Given the description of an element on the screen output the (x, y) to click on. 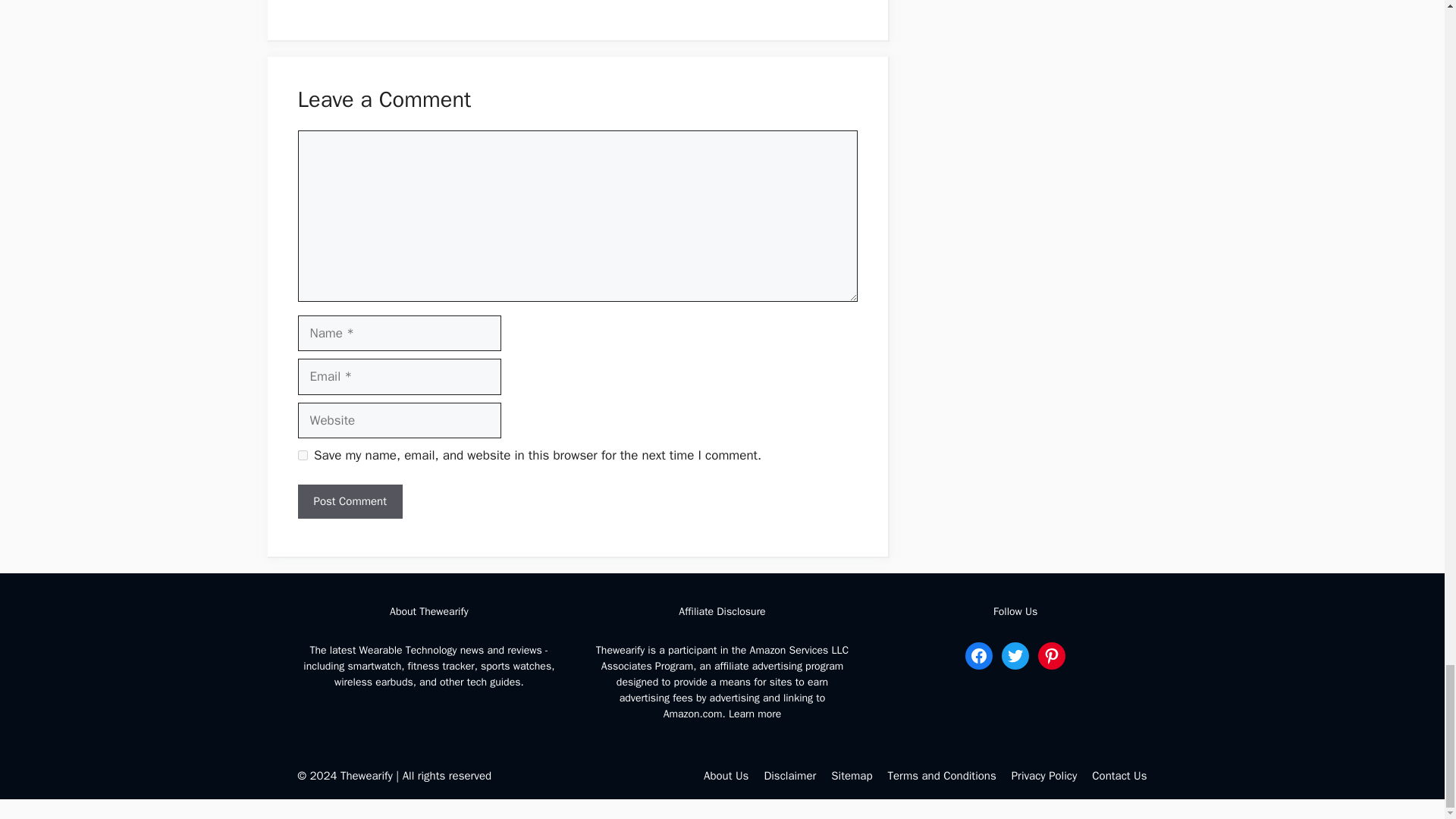
yes (302, 455)
Post Comment (349, 501)
